Given the description of an element on the screen output the (x, y) to click on. 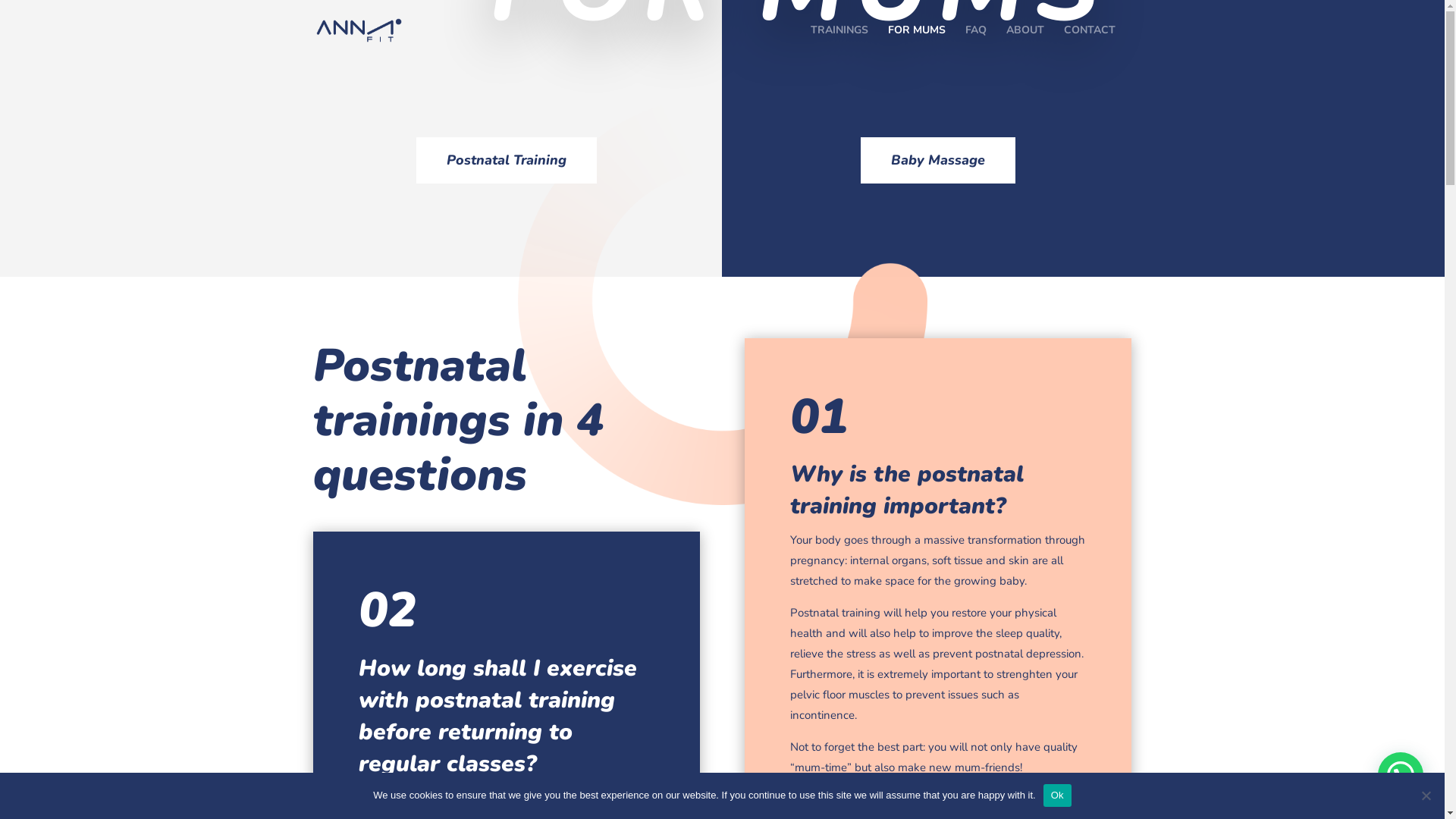
FAQ Element type: text (974, 42)
No Element type: hover (1425, 795)
ABOUT Element type: text (1024, 42)
FOR MUMS Element type: text (915, 42)
Baby Massage Element type: text (937, 160)
CONTACT Element type: text (1088, 42)
circle_pink Element type: hover (721, 300)
Ok Element type: text (1057, 795)
TRAININGS Element type: text (838, 42)
Postnatal Training Element type: text (506, 160)
